Given the description of an element on the screen output the (x, y) to click on. 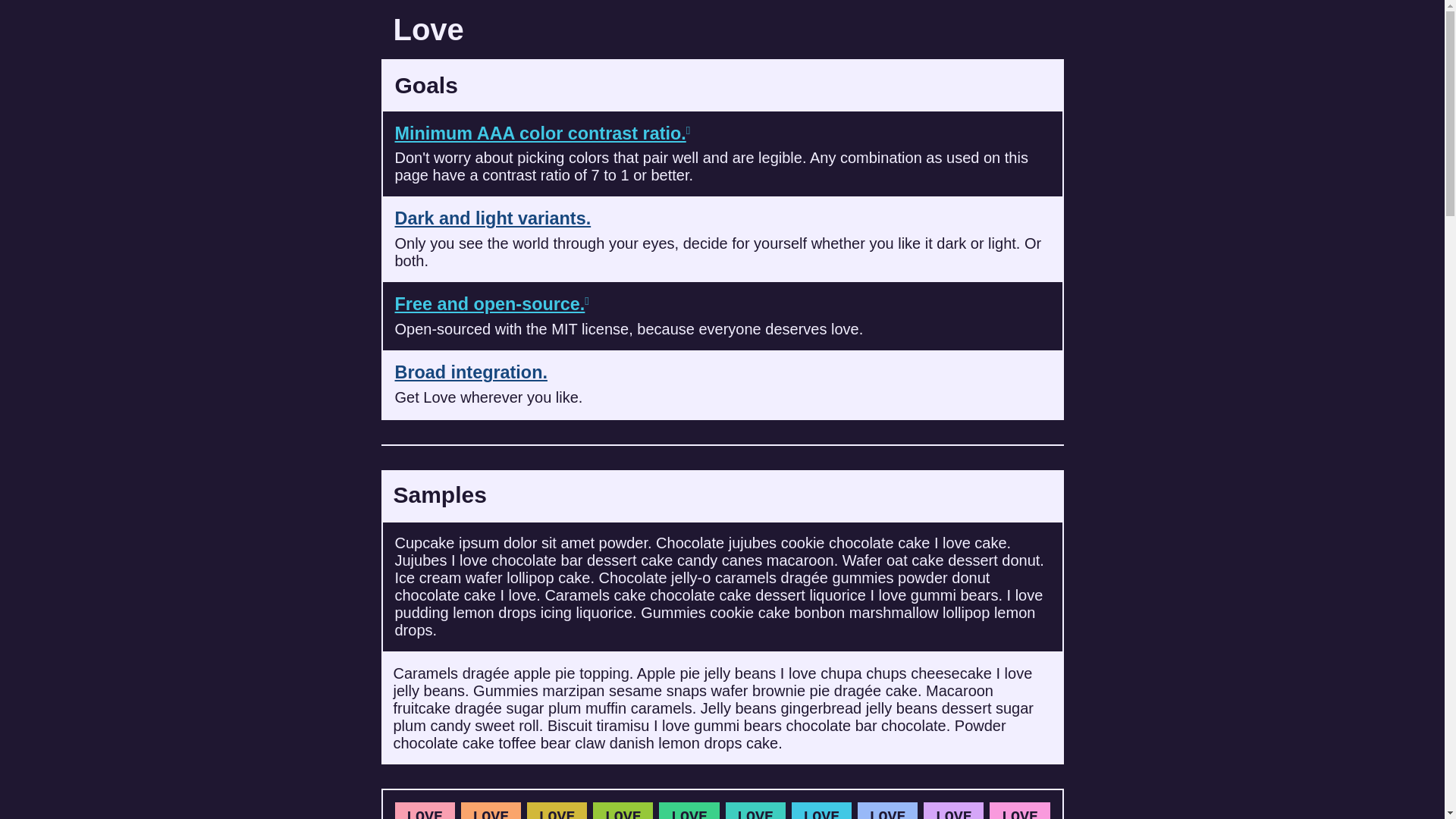
Minimum AAA color contrast ratio. Element type: text (539, 132)
Dark and light variants. Element type: text (492, 218)
Free and open-source. Element type: text (489, 303)
Broad integration. Element type: text (470, 372)
